Given the description of an element on the screen output the (x, y) to click on. 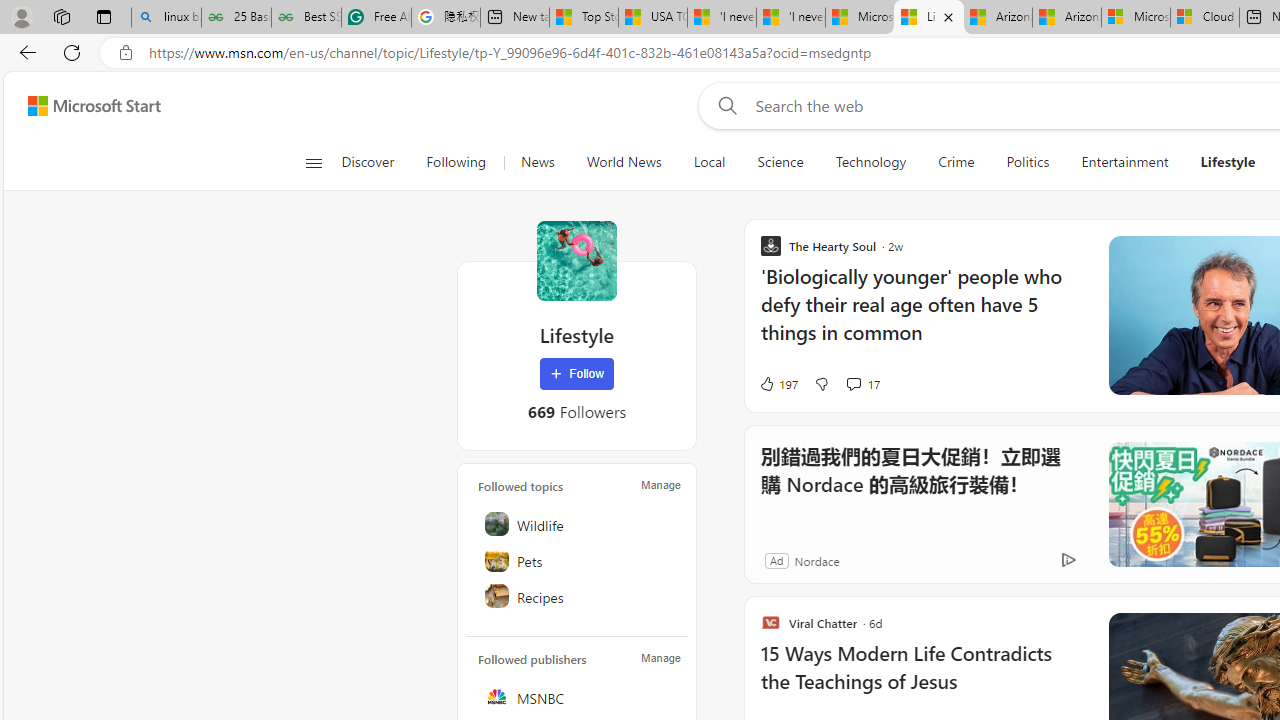
Free AI Writing Assistance for Students | Grammarly (375, 17)
Pets (578, 560)
Recipes (578, 596)
Dislike (821, 384)
Local (709, 162)
Entertainment (1124, 162)
Back (24, 52)
View comments 17 Comment (862, 384)
Crime (955, 162)
MSNBC (578, 696)
Personal Profile (21, 16)
Microsoft Start (859, 17)
Workspaces (61, 16)
197 Like (778, 384)
Ad (776, 560)
